Given the description of an element on the screen output the (x, y) to click on. 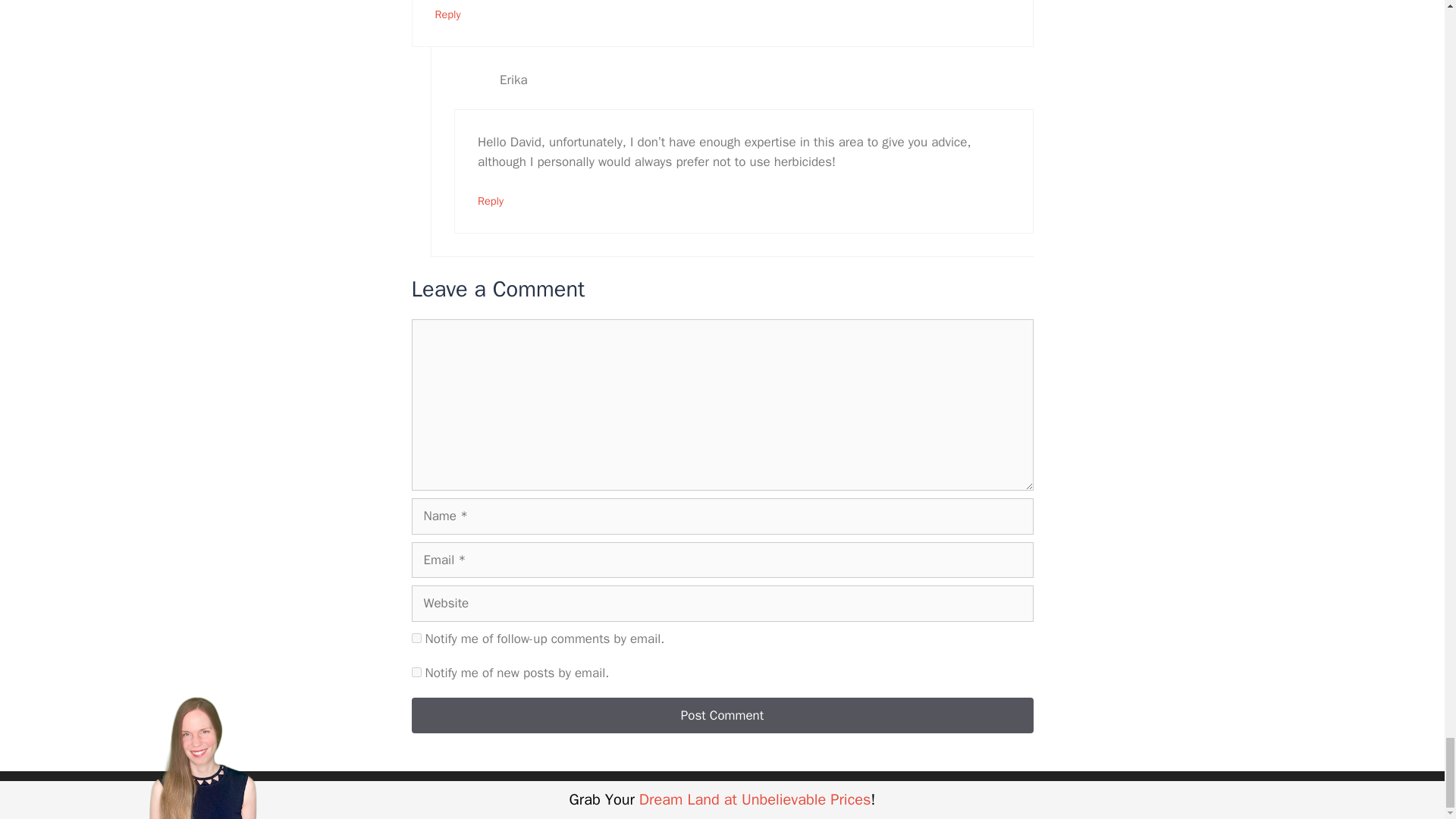
Post Comment (721, 715)
subscribe (415, 672)
subscribe (415, 637)
